Given the description of an element on the screen output the (x, y) to click on. 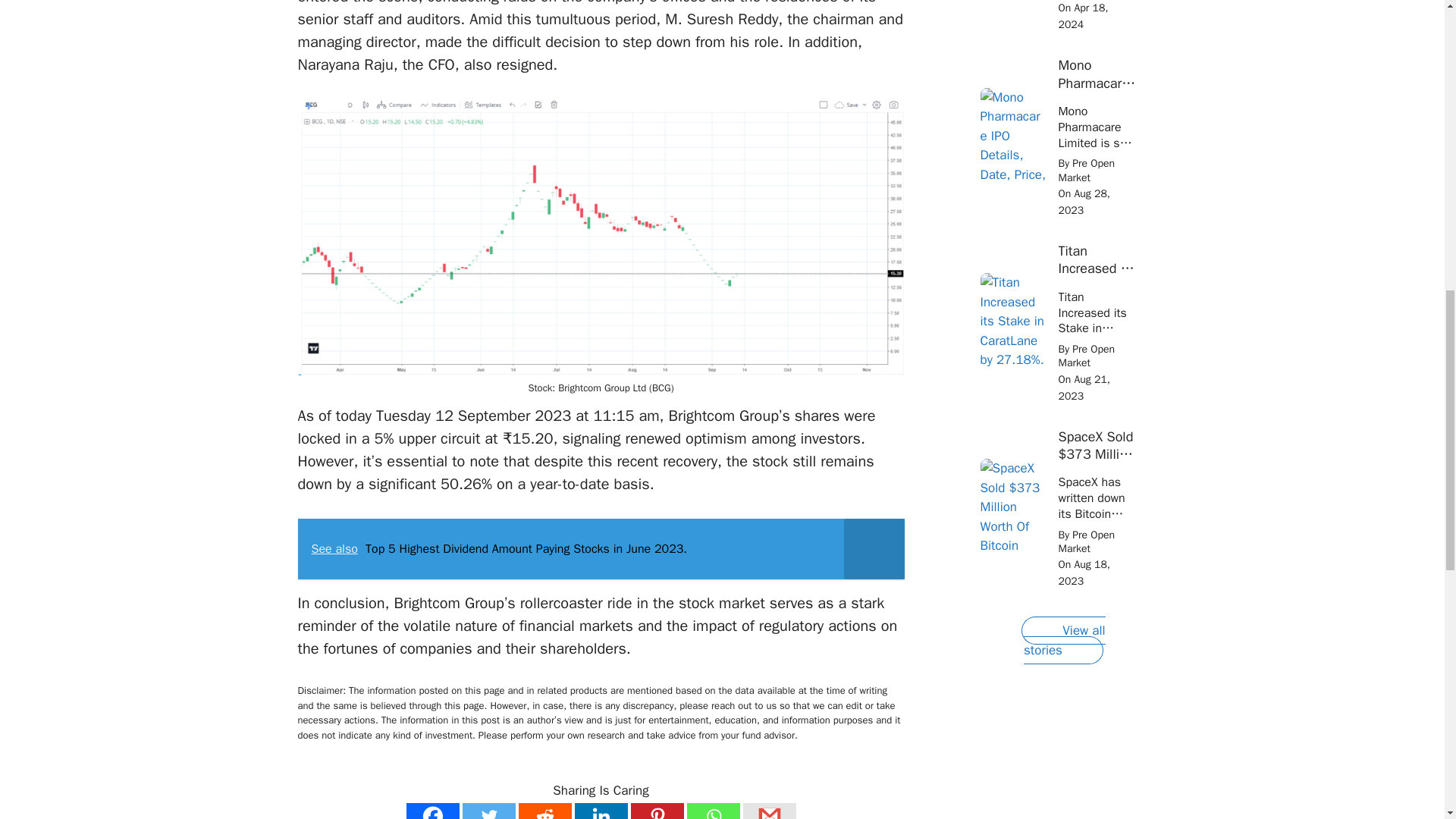
Whatsapp (713, 811)
Facebook (433, 811)
Reddit (545, 811)
Pinterest (657, 811)
Linkedin (601, 811)
View all stories (1063, 640)
Twitter (489, 811)
